Given the description of an element on the screen output the (x, y) to click on. 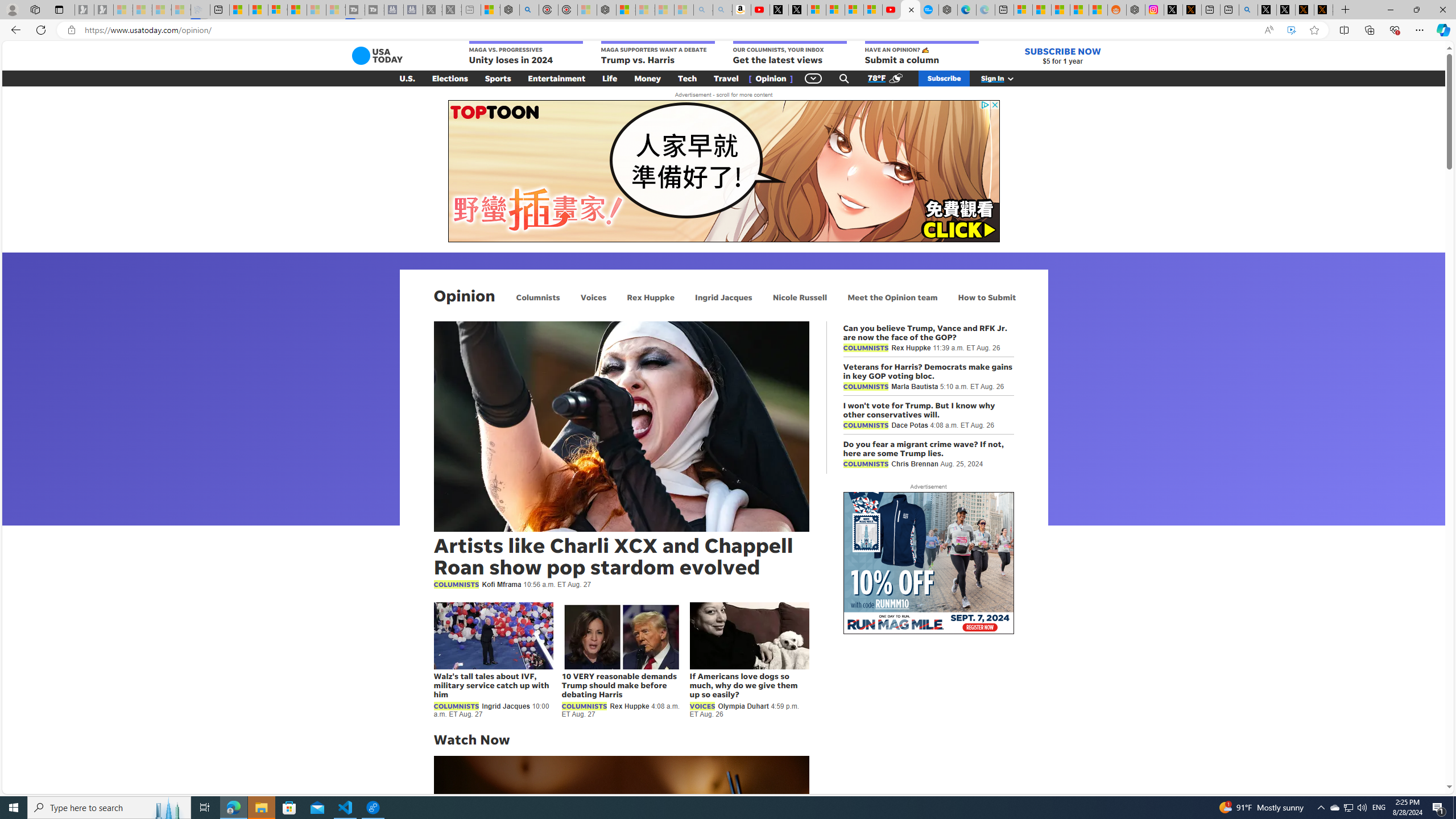
github - Search (1248, 9)
help.x.com | 524: A timeout occurred (1192, 9)
Shanghai, China Weather trends | Microsoft Weather (1098, 9)
Rex Huppke (650, 296)
Class: gnt_n_se_a_svg (844, 78)
Overview (277, 9)
Elections (449, 78)
GitHub (@github) / X (1285, 9)
Class: gnt_n_lg_svg (376, 55)
Address and search bar (669, 29)
